Given the description of an element on the screen output the (x, y) to click on. 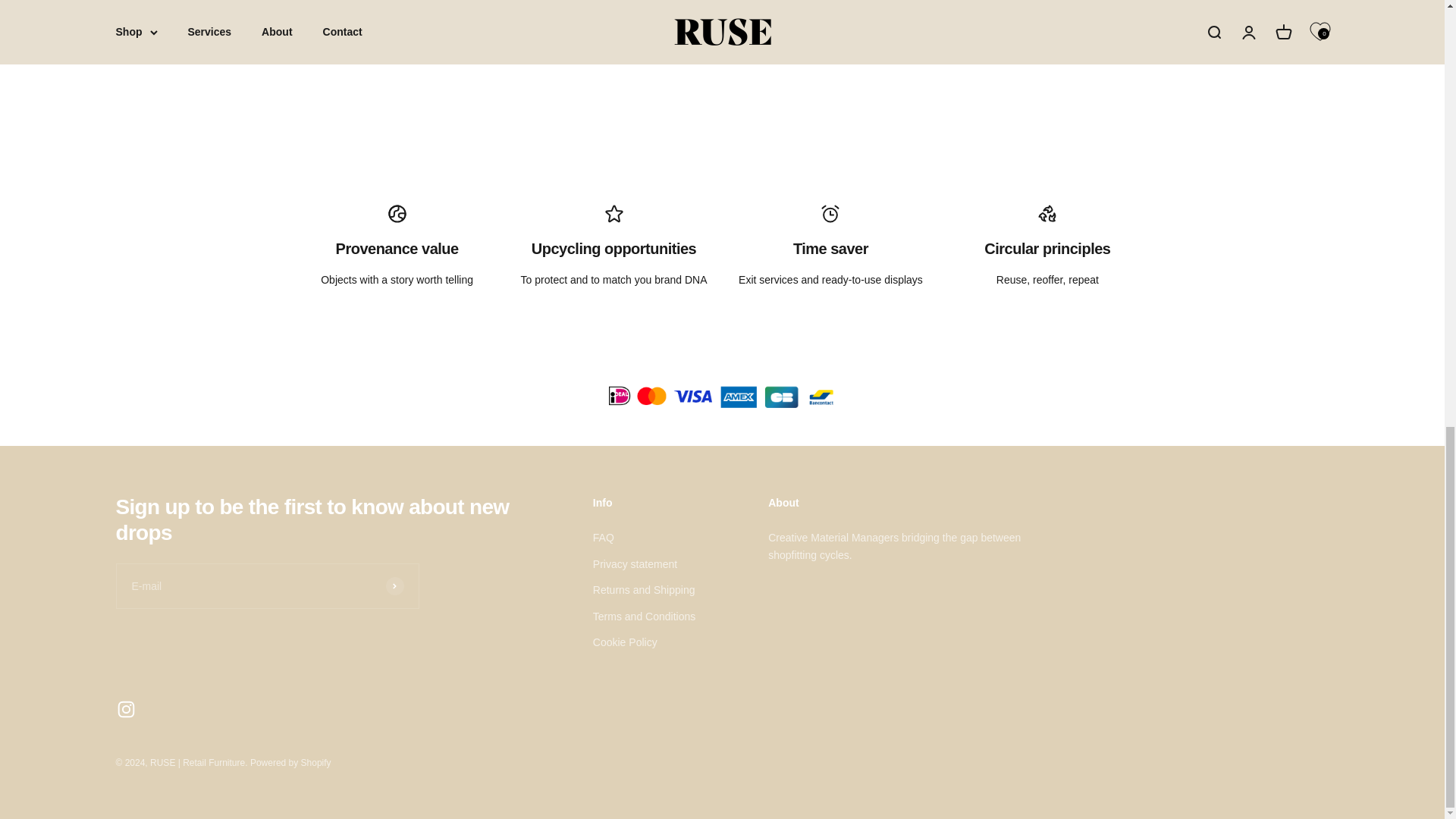
FAQ (603, 537)
Powered by Shopify (290, 762)
Privacy statement (634, 564)
Cookie Policy (625, 641)
Subscribe (394, 586)
Terms and Conditions (643, 616)
Returns and Shipping (643, 589)
